Given the description of an element on the screen output the (x, y) to click on. 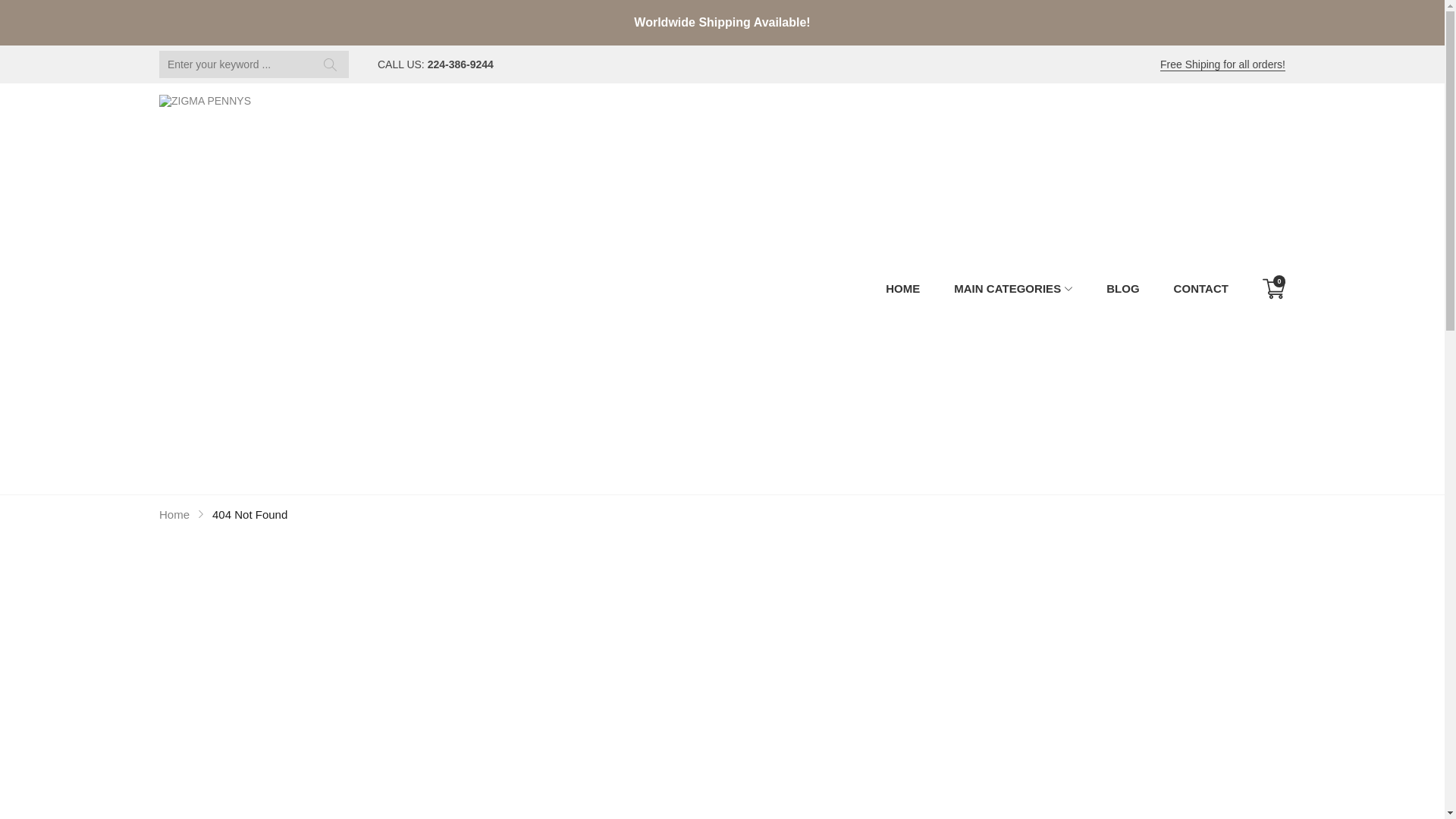
Back to the frontpage (173, 513)
MAIN CATEGORIES (1012, 289)
CONTACT (1199, 289)
